Given the description of an element on the screen output the (x, y) to click on. 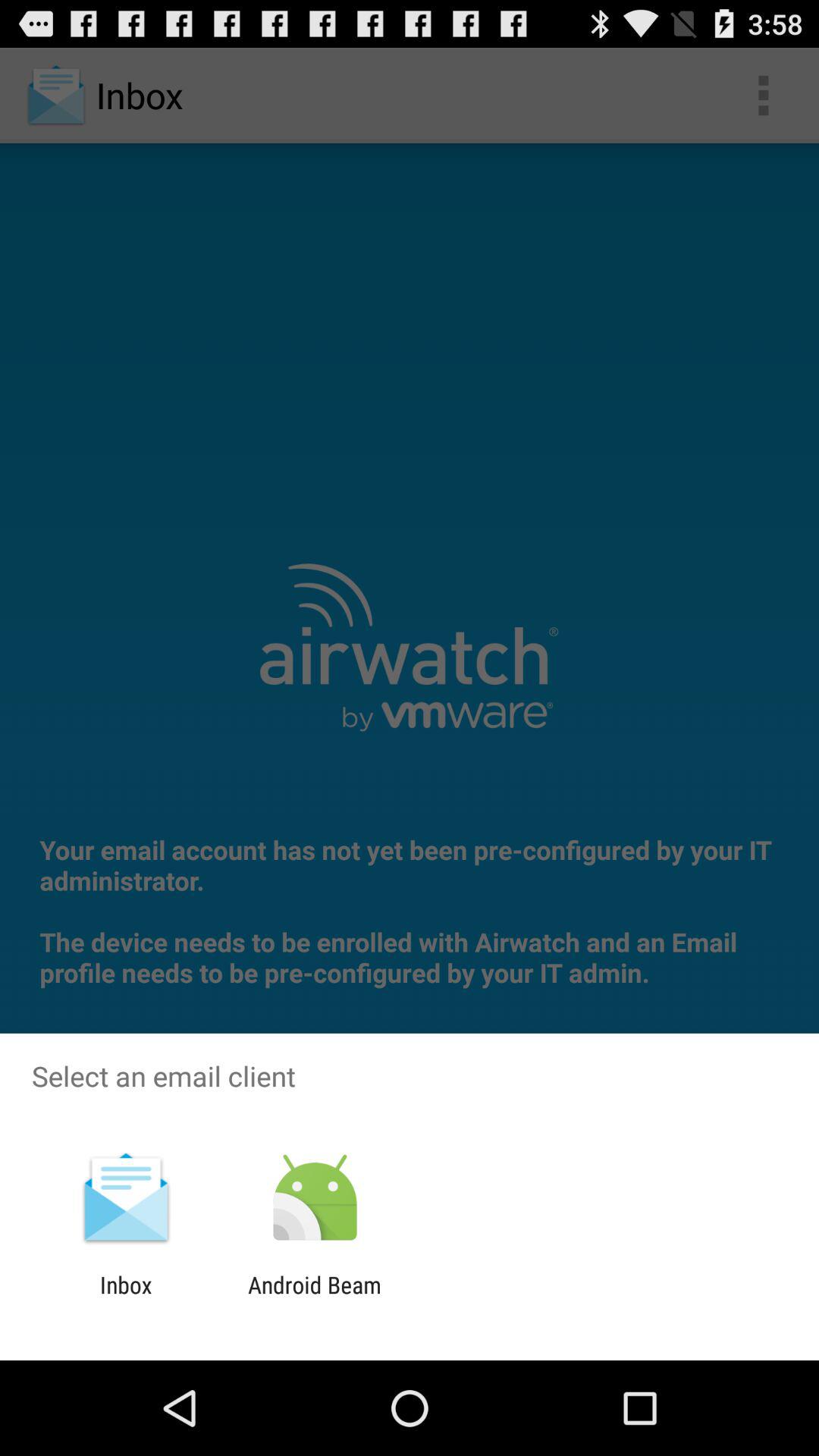
flip to the android beam (314, 1298)
